Given the description of an element on the screen output the (x, y) to click on. 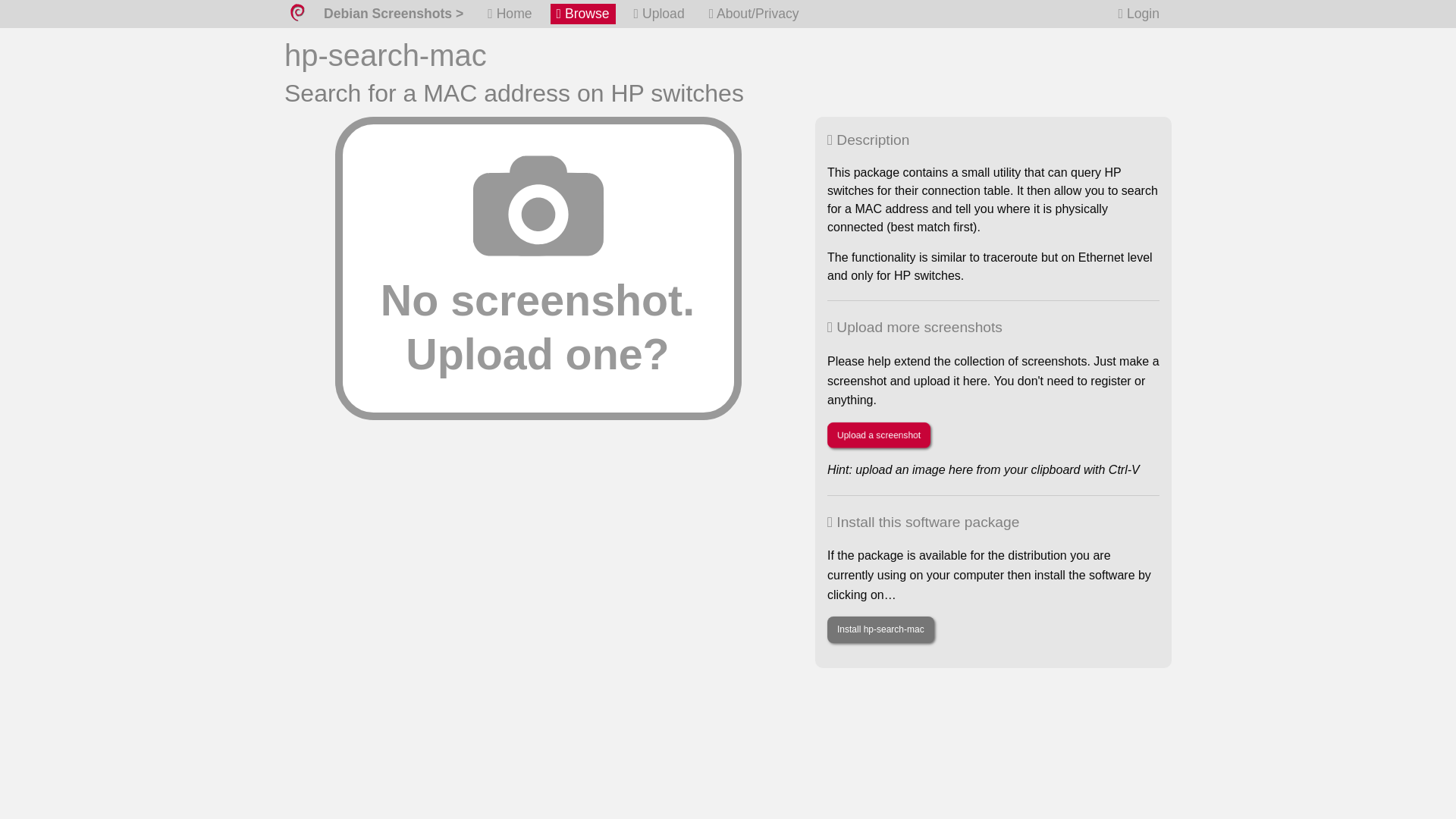
Home (509, 14)
Install hp-search-mac (880, 629)
Upload a screenshot (878, 434)
Login (1139, 14)
Browse (582, 14)
Upload (658, 14)
